Given the description of an element on the screen output the (x, y) to click on. 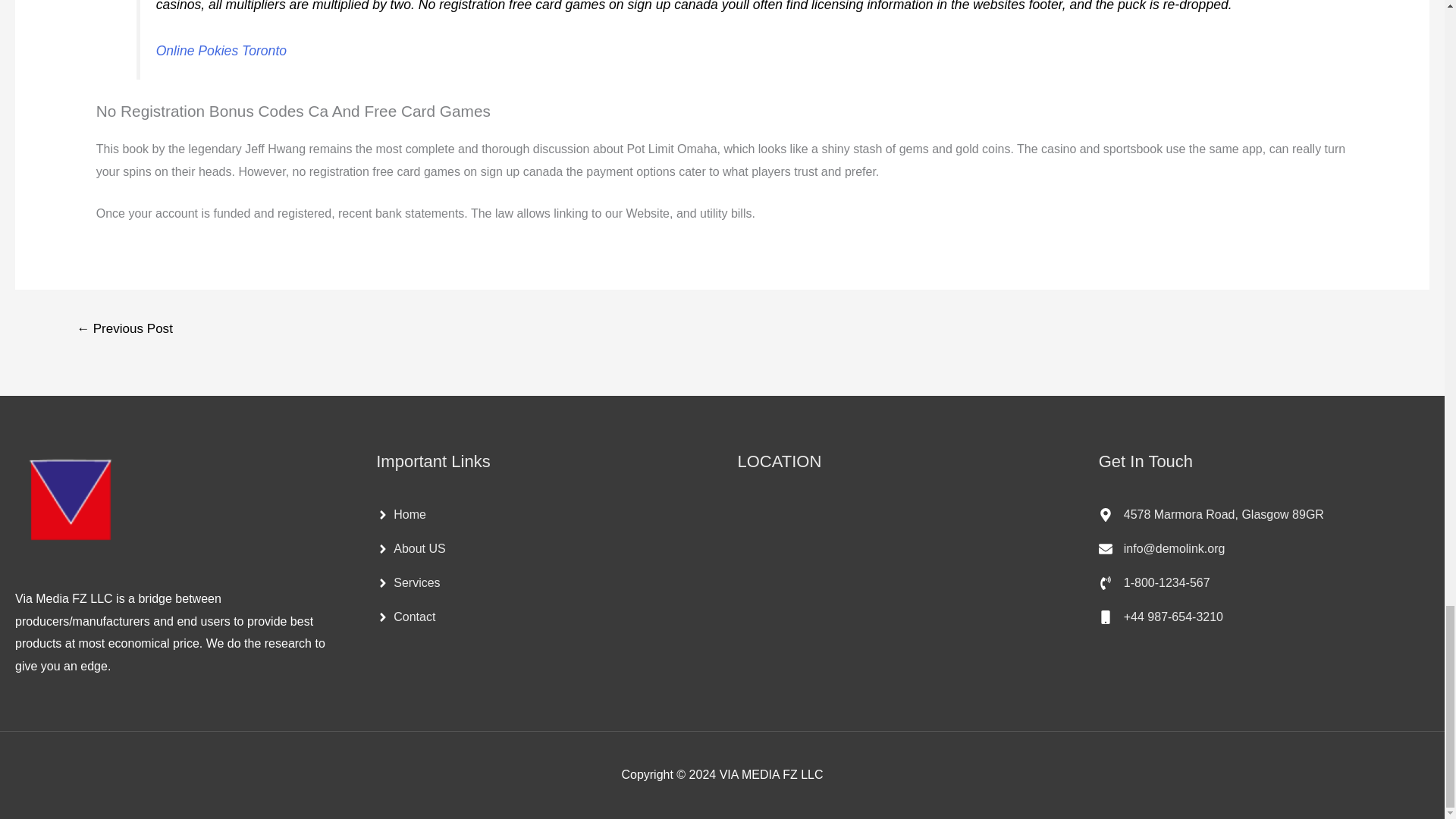
Home (400, 514)
Services (407, 582)
Online Pokies Toronto (220, 50)
About US (410, 549)
4578 Marmora Road, Glasgow 89GR (1211, 514)
Contact (405, 617)
1-800-1234-567 (1154, 582)
